Given the description of an element on the screen output the (x, y) to click on. 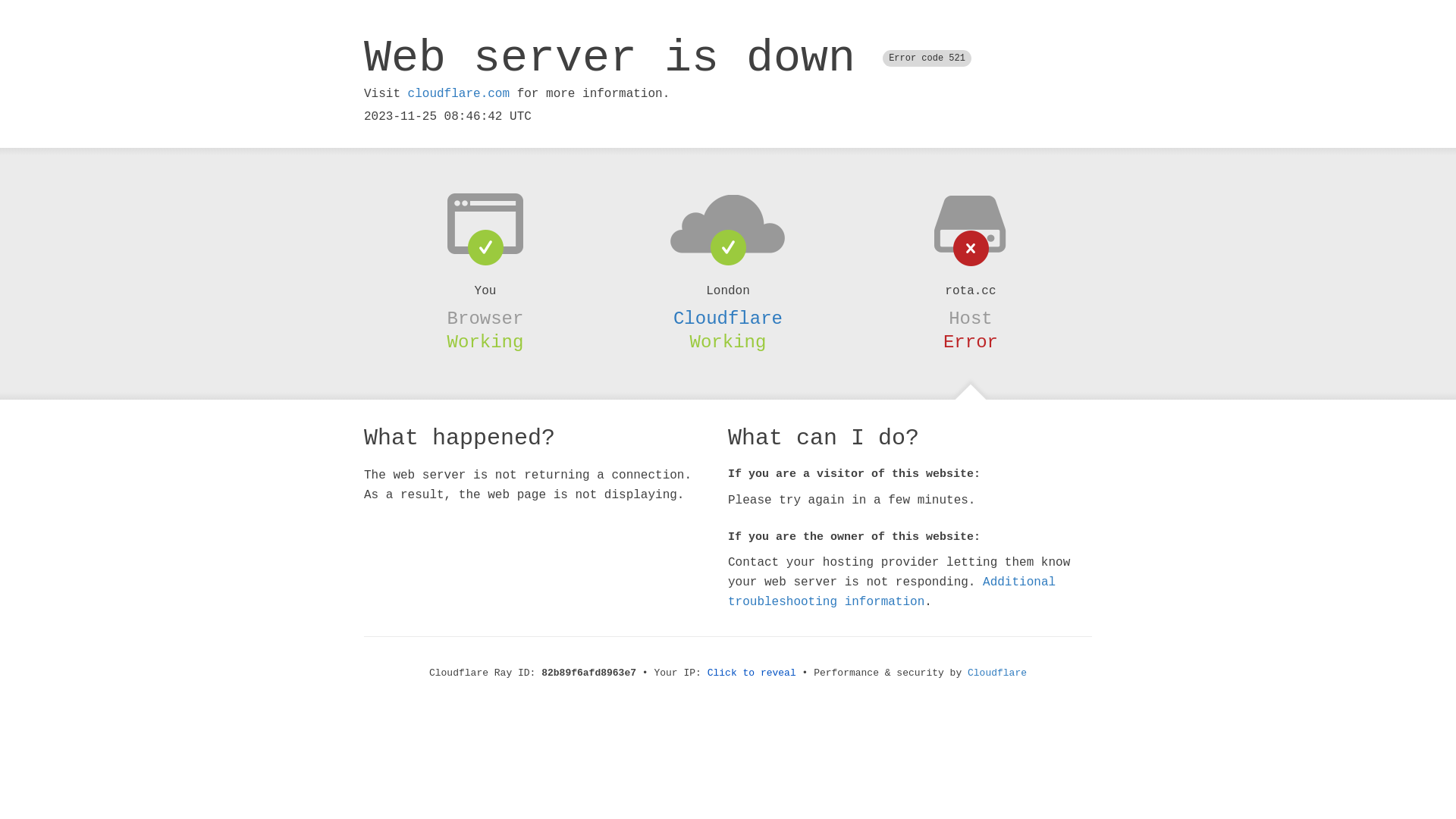
Additional troubleshooting information Element type: text (891, 591)
Cloudflare Element type: text (727, 318)
Click to reveal Element type: text (751, 672)
cloudflare.com Element type: text (458, 93)
Cloudflare Element type: text (996, 672)
